Given the description of an element on the screen output the (x, y) to click on. 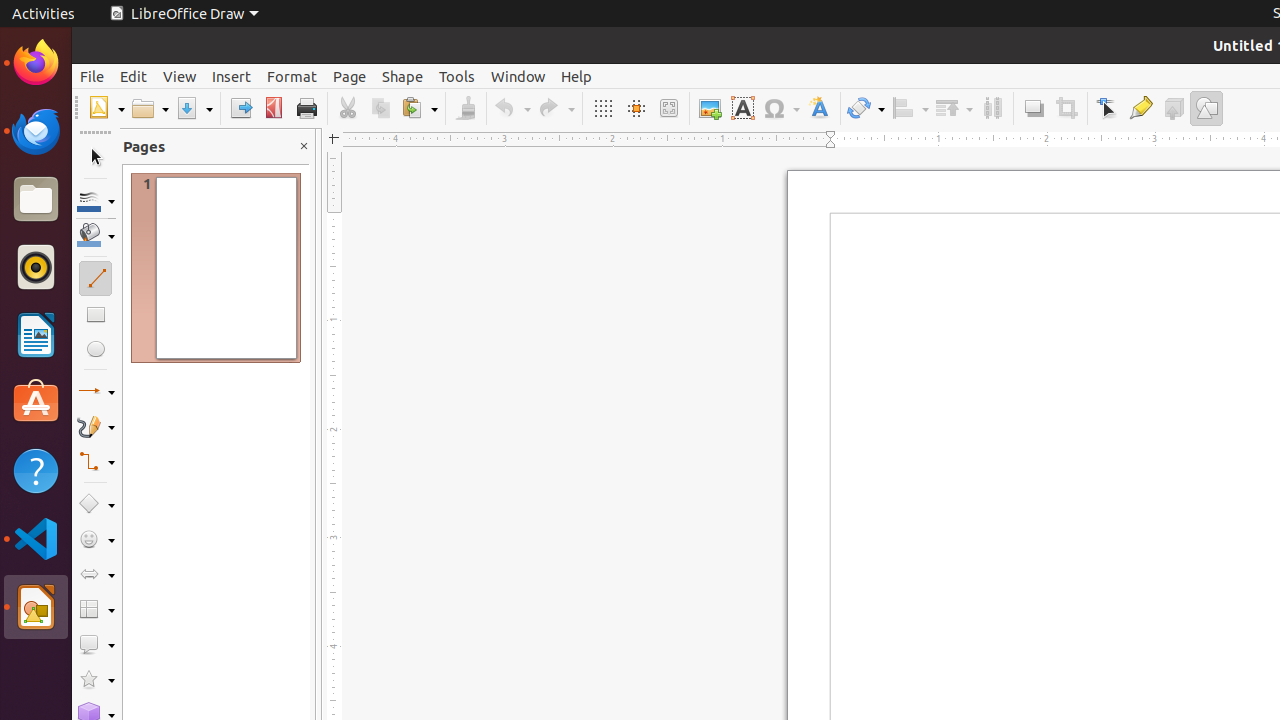
Ubuntu Software Element type: push-button (36, 402)
